Given the description of an element on the screen output the (x, y) to click on. 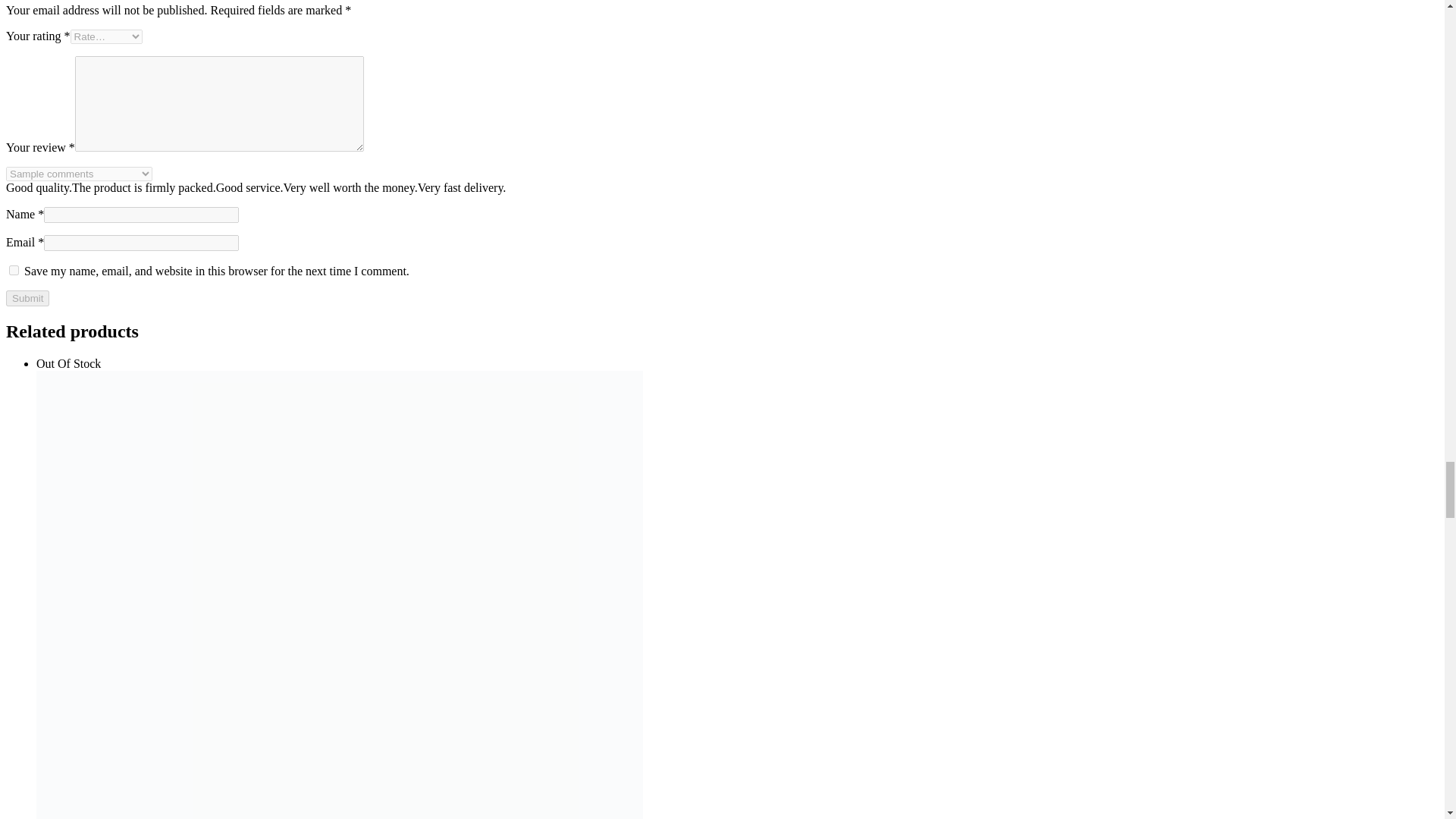
yes (13, 270)
Submit (27, 298)
